Given the description of an element on the screen output the (x, y) to click on. 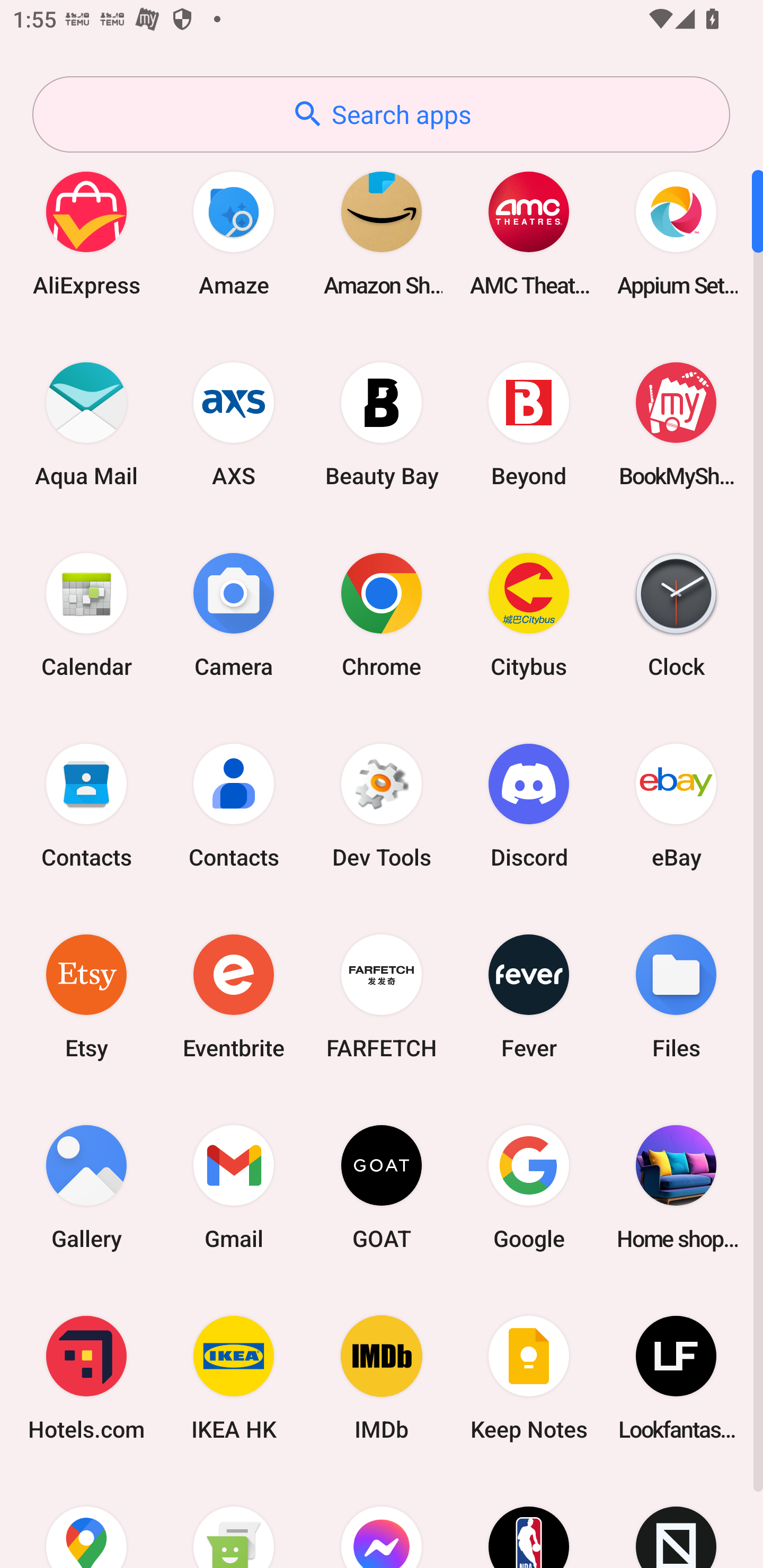
  Search apps (381, 114)
AliExpress (86, 233)
Amaze (233, 233)
Amazon Shopping (381, 233)
AMC Theatres (528, 233)
Appium Settings (676, 233)
Aqua Mail (86, 424)
AXS (233, 424)
Beauty Bay (381, 424)
Beyond (528, 424)
BookMyShow (676, 424)
Calendar (86, 614)
Camera (233, 614)
Chrome (381, 614)
Citybus (528, 614)
Clock (676, 614)
Contacts (86, 805)
Contacts (233, 805)
Dev Tools (381, 805)
Discord (528, 805)
eBay (676, 805)
Etsy (86, 996)
Eventbrite (233, 996)
FARFETCH (381, 996)
Fever (528, 996)
Files (676, 996)
Gallery (86, 1186)
Gmail (233, 1186)
GOAT (381, 1186)
Google (528, 1186)
Home shopping (676, 1186)
Hotels.com (86, 1377)
IKEA HK (233, 1377)
IMDb (381, 1377)
Keep Notes (528, 1377)
Lookfantastic (676, 1377)
